Given the description of an element on the screen output the (x, y) to click on. 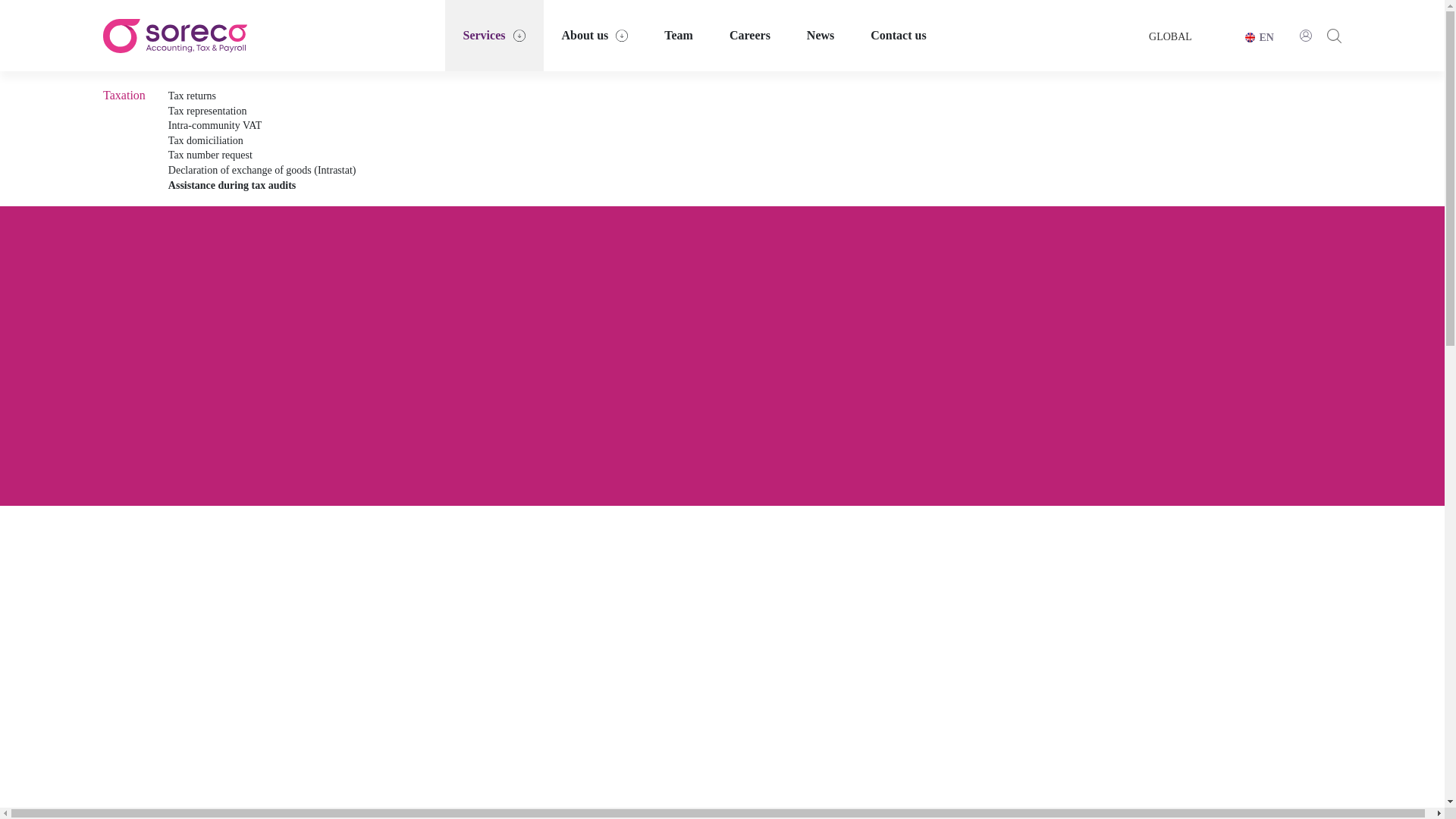
User (1305, 35)
Accueil (175, 35)
Services (494, 35)
